Given the description of an element on the screen output the (x, y) to click on. 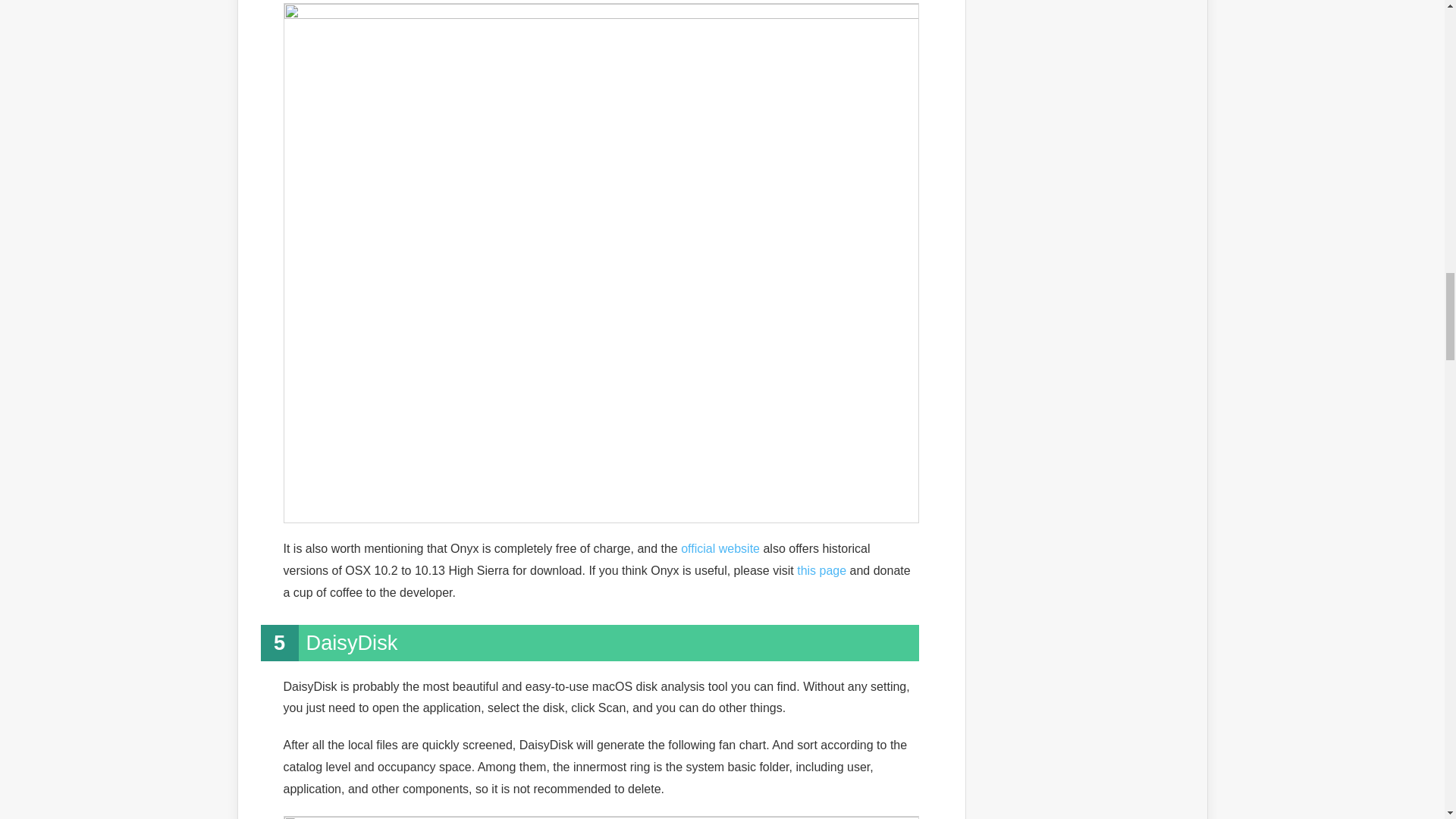
this page (820, 570)
official website (720, 548)
